Given the description of an element on the screen output the (x, y) to click on. 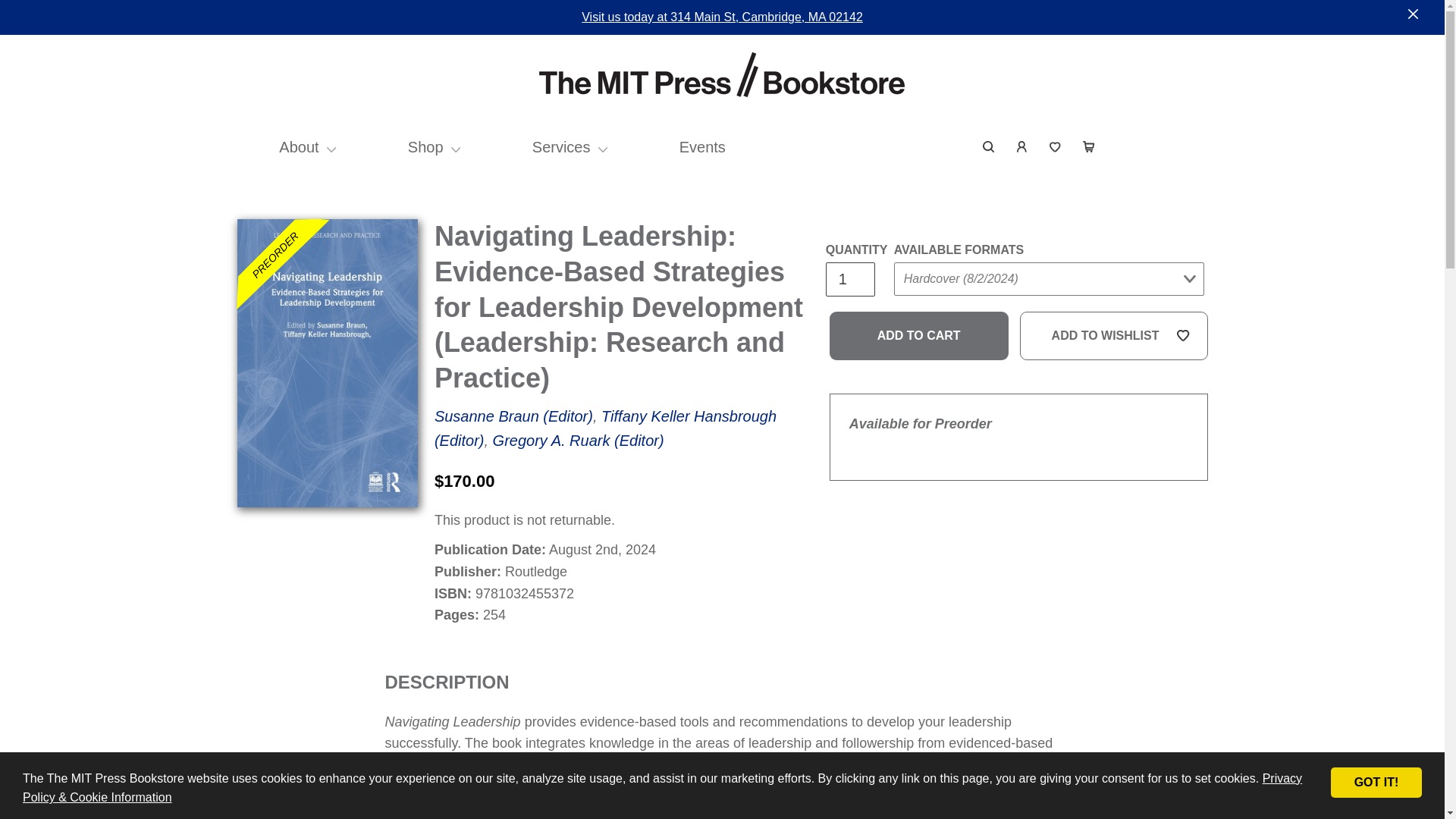
SEARCH (989, 146)
Services (561, 146)
Visit us today at 314 Main St, Cambridge, MA 02142 (721, 16)
Shop for books (425, 146)
Events (702, 146)
Submit (1169, 135)
Add to cart (919, 336)
About the MIT Press Bookstore (298, 146)
Add to cart (919, 336)
Cart (1088, 146)
Search (989, 146)
SHOP SUB-NAVIGATION (456, 146)
Log in (1022, 146)
Submit (922, 308)
1 (850, 279)
